Given the description of an element on the screen output the (x, y) to click on. 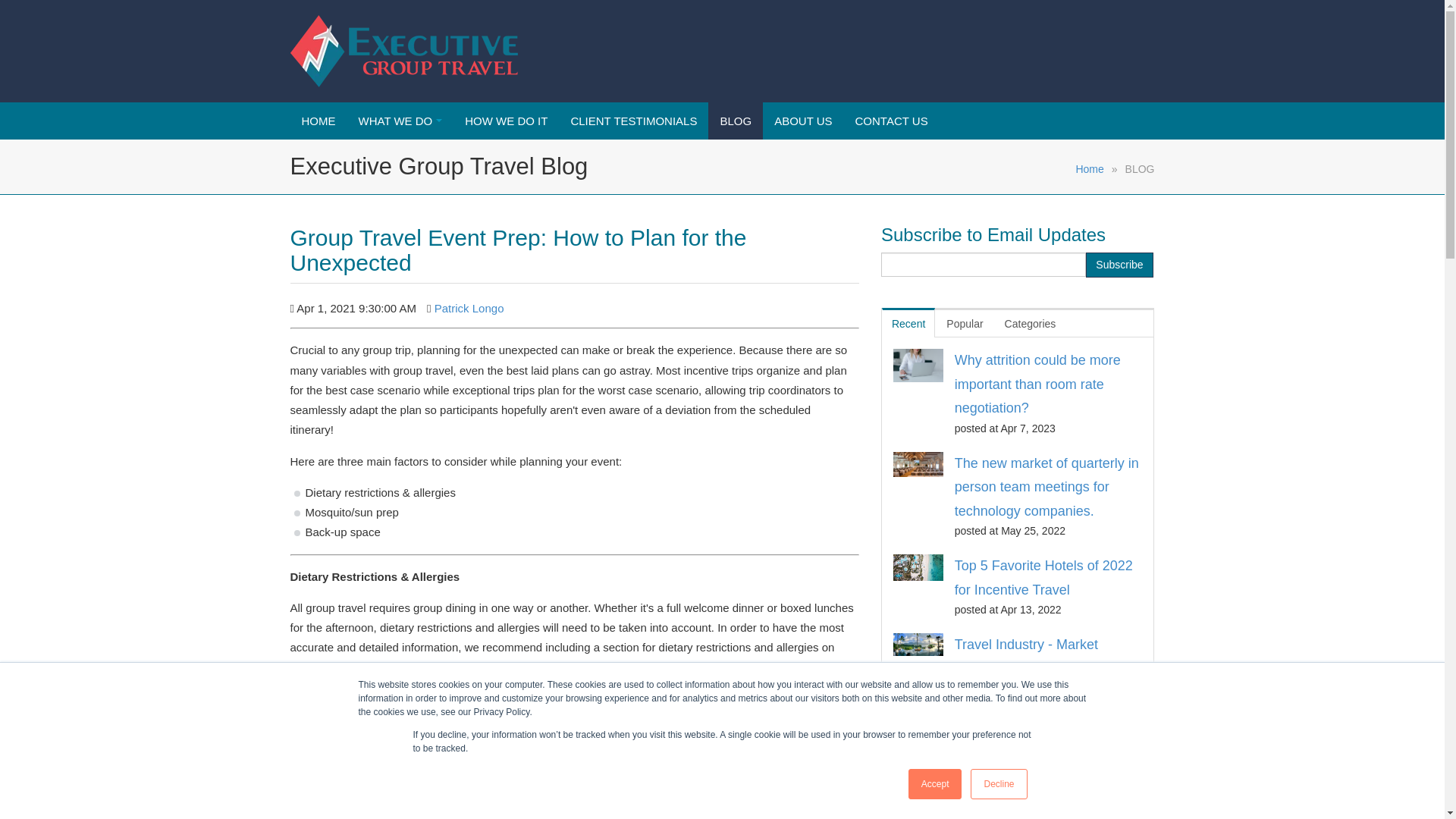
Accept (935, 784)
Subscribe (1119, 265)
Top 5 Favorite Hotels of 2022 for Incentive Travel (1043, 577)
CONTACT US (891, 120)
Travel Industry - Market Conditions (1026, 656)
BLOG (734, 120)
CLIENT TESTIMONIALS (633, 120)
Decline (998, 784)
Recent (908, 322)
